Given the description of an element on the screen output the (x, y) to click on. 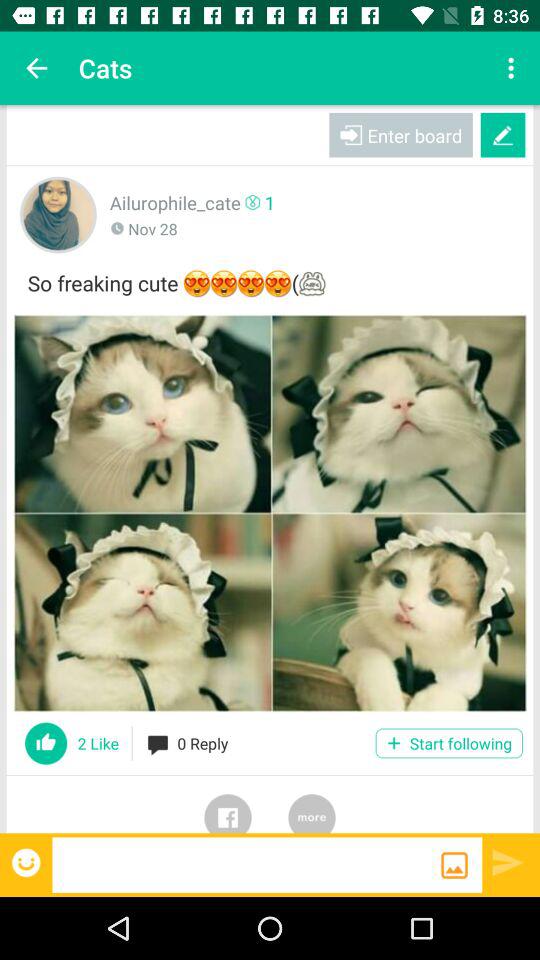
like post (46, 743)
